Given the description of an element on the screen output the (x, y) to click on. 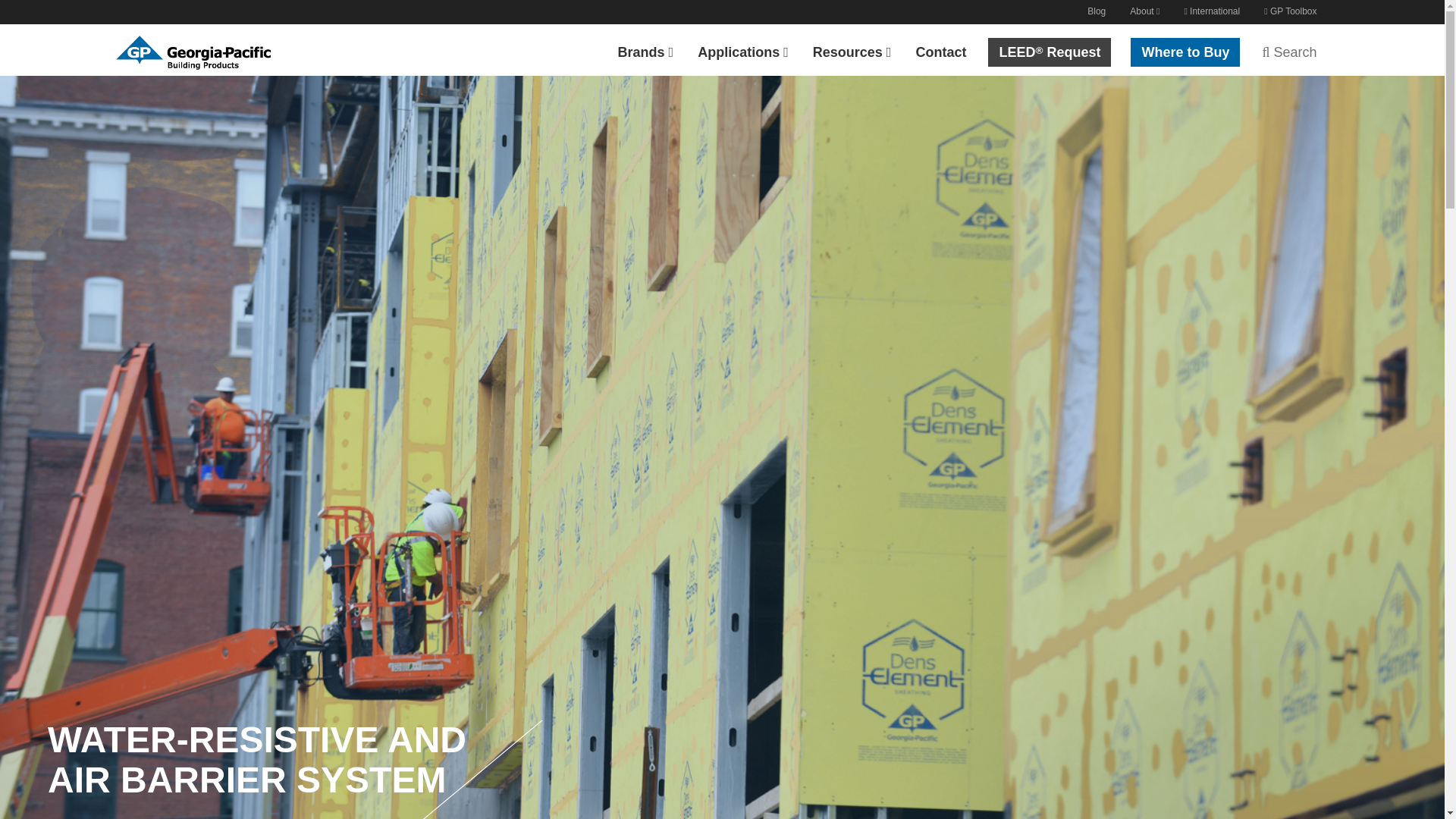
International (1212, 12)
Blog (1096, 12)
About (1145, 12)
Applications (742, 50)
GP Toolbox (1289, 12)
Brands (645, 50)
